Given the description of an element on the screen output the (x, y) to click on. 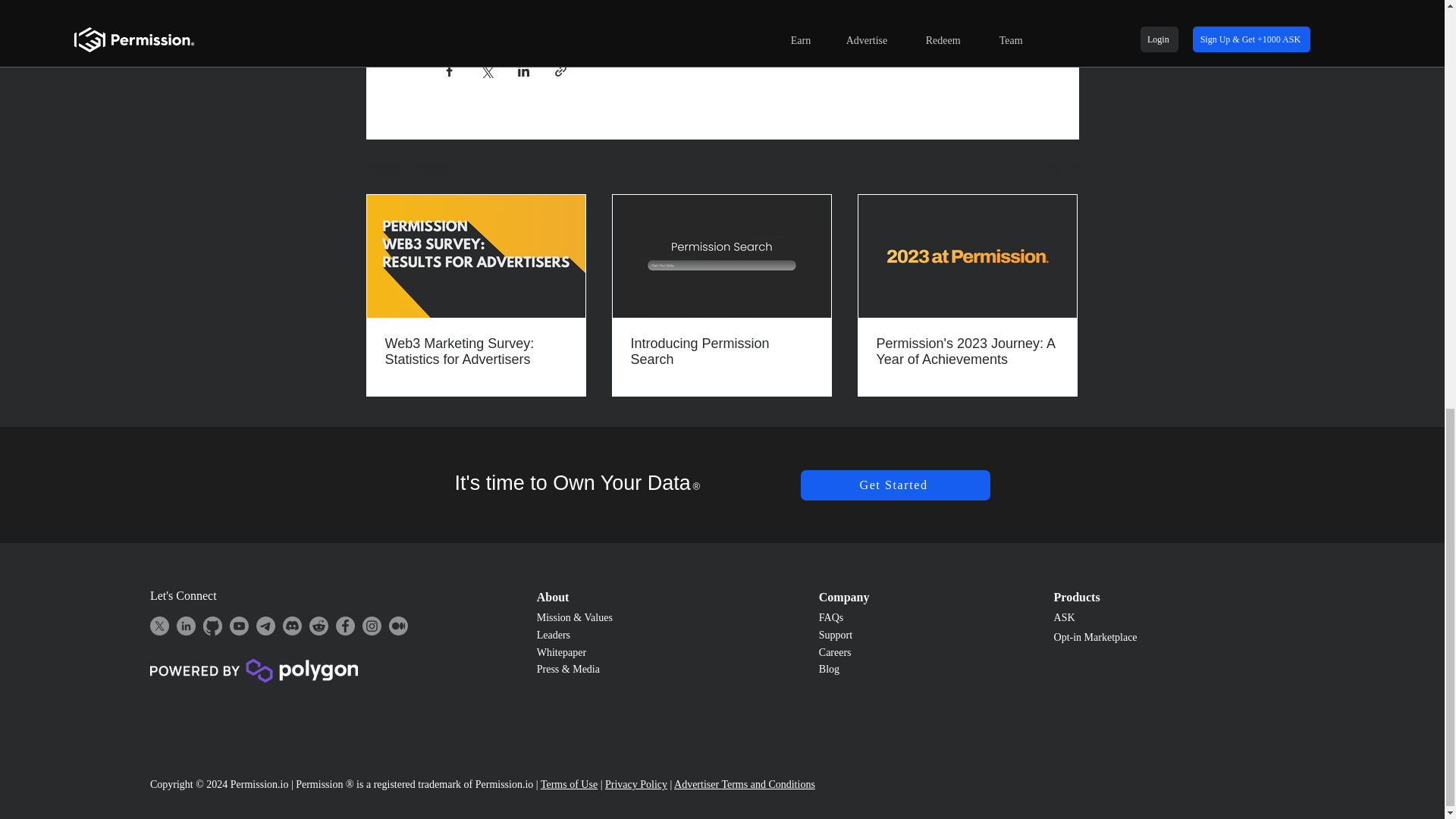
Web3 Marketing Survey: Statistics for Advertisers (476, 351)
See All (1061, 168)
Whitepaper (561, 652)
Privacy Policy (635, 784)
Terms of Use (568, 784)
Advertiser Terms and Conditions (744, 784)
Leaders  (555, 634)
Get Started (895, 485)
Introducing Permission Search (721, 351)
About (553, 596)
